Given the description of an element on the screen output the (x, y) to click on. 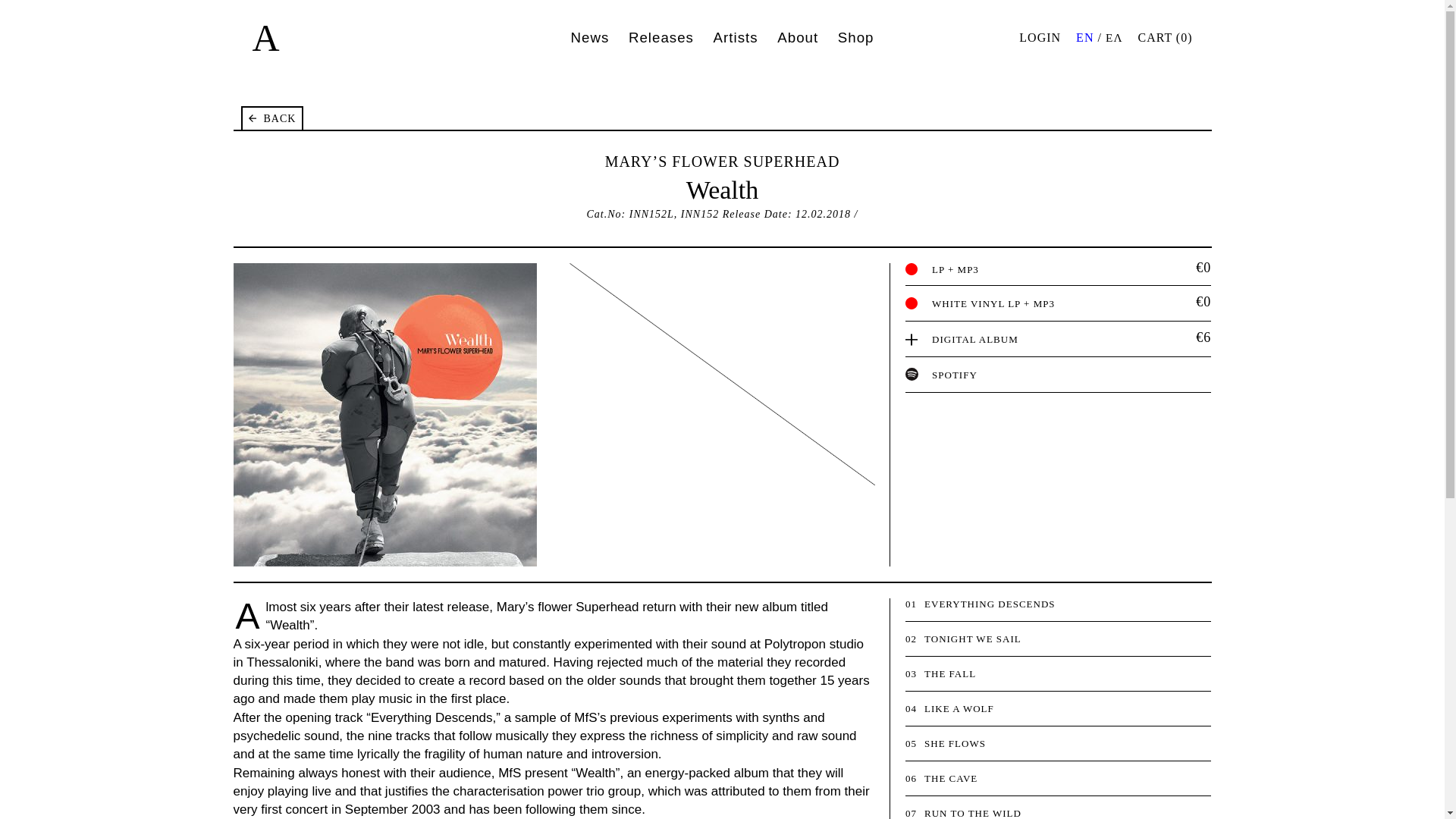
About (797, 36)
Shop (856, 36)
News (589, 36)
BACK (272, 117)
Artists (735, 36)
View your shopping cart (1165, 37)
LOGIN (1040, 37)
A (265, 37)
Login (1040, 37)
Releases (661, 36)
